Given the description of an element on the screen output the (x, y) to click on. 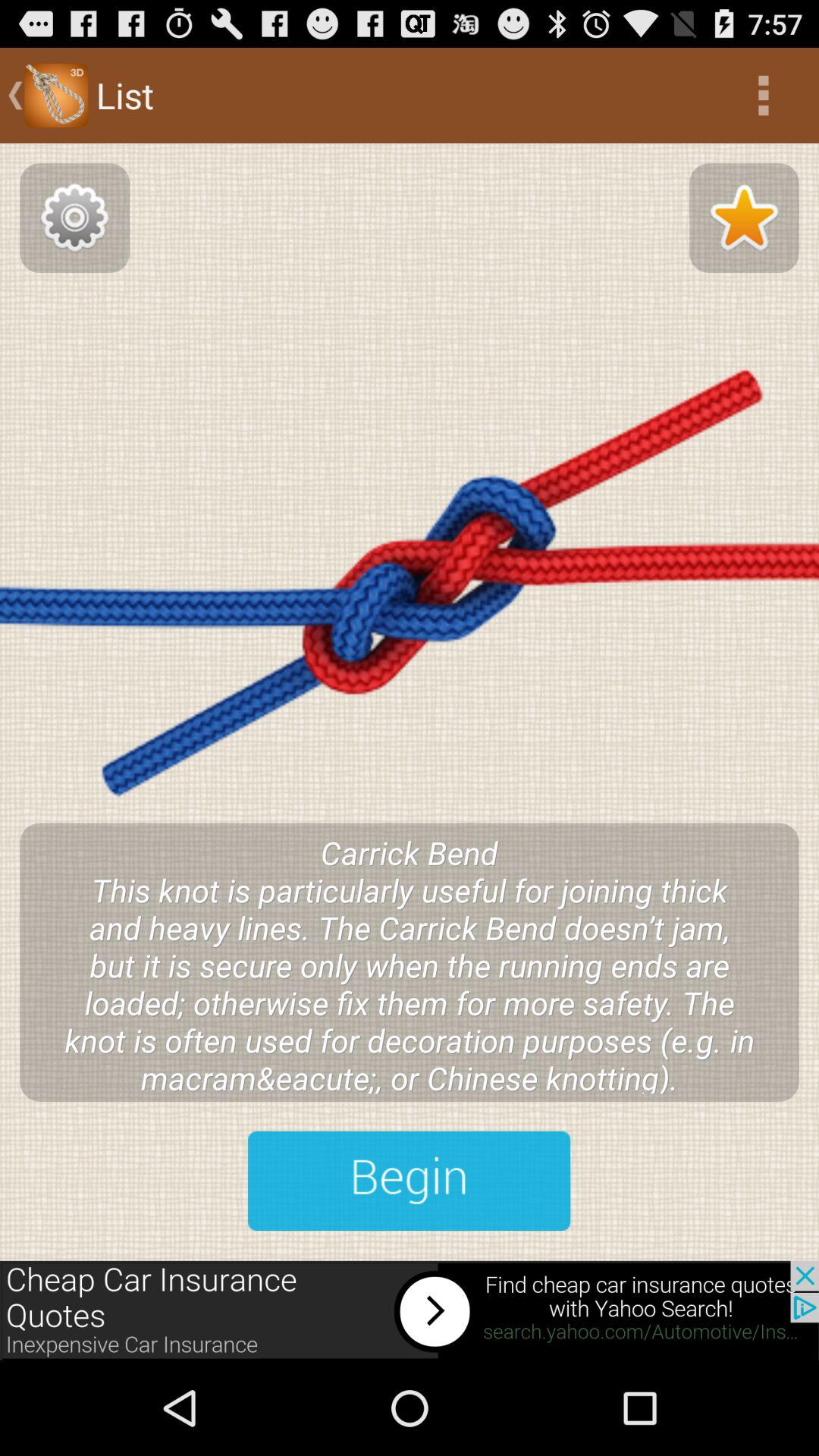
begin (408, 1180)
